Given the description of an element on the screen output the (x, y) to click on. 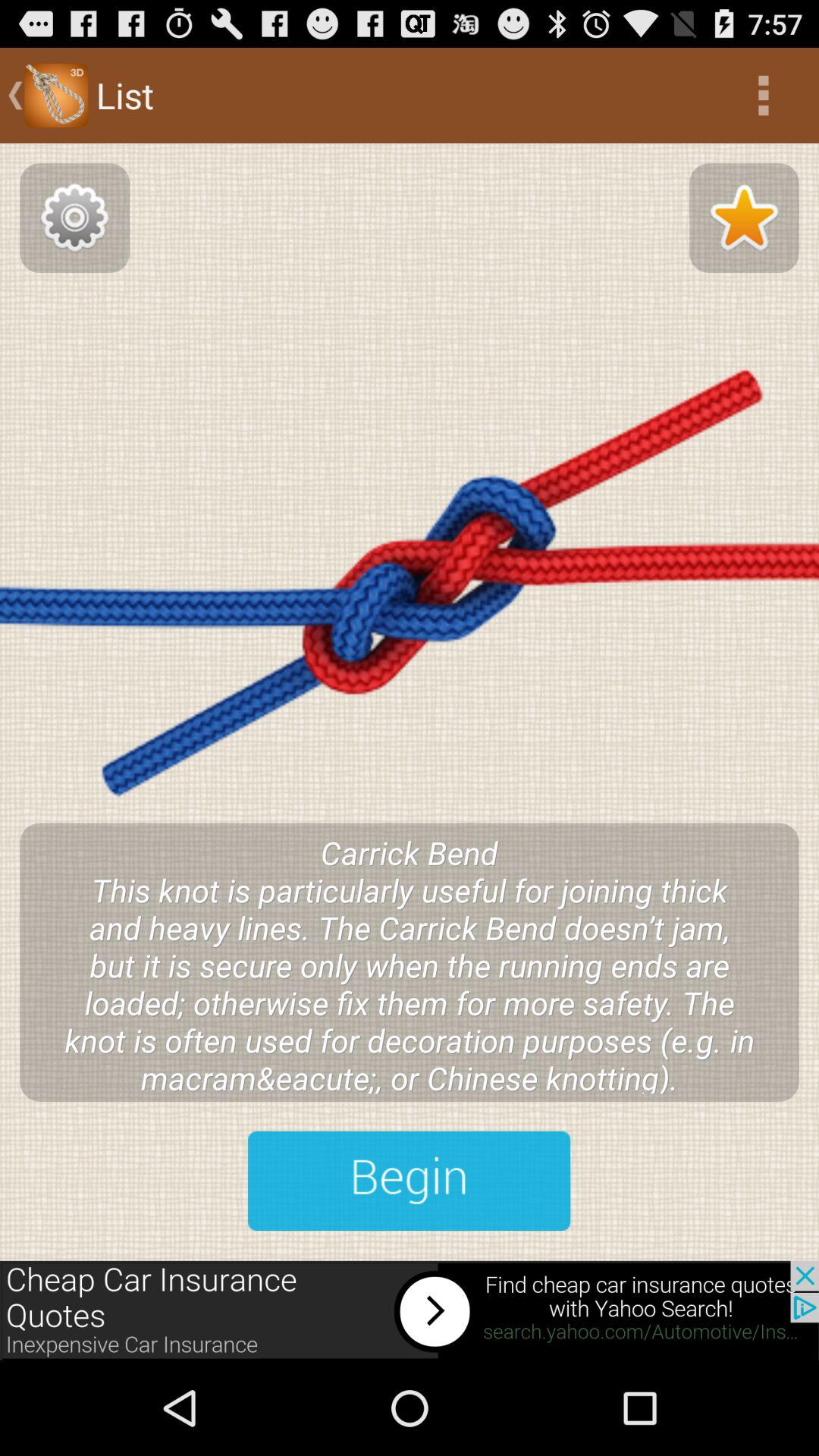
begin (408, 1180)
